Given the description of an element on the screen output the (x, y) to click on. 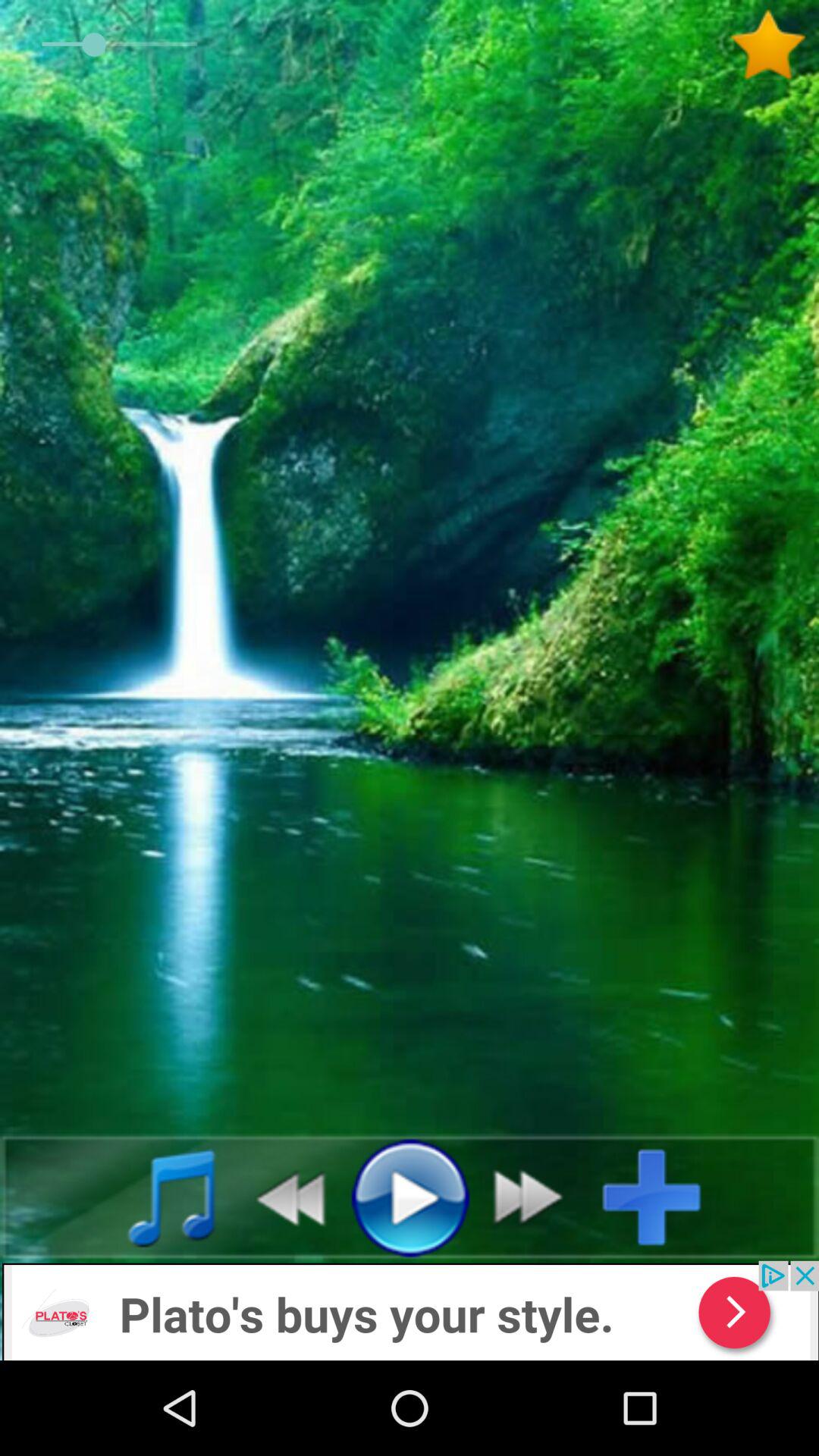
fast forward (536, 1196)
